Given the description of an element on the screen output the (x, y) to click on. 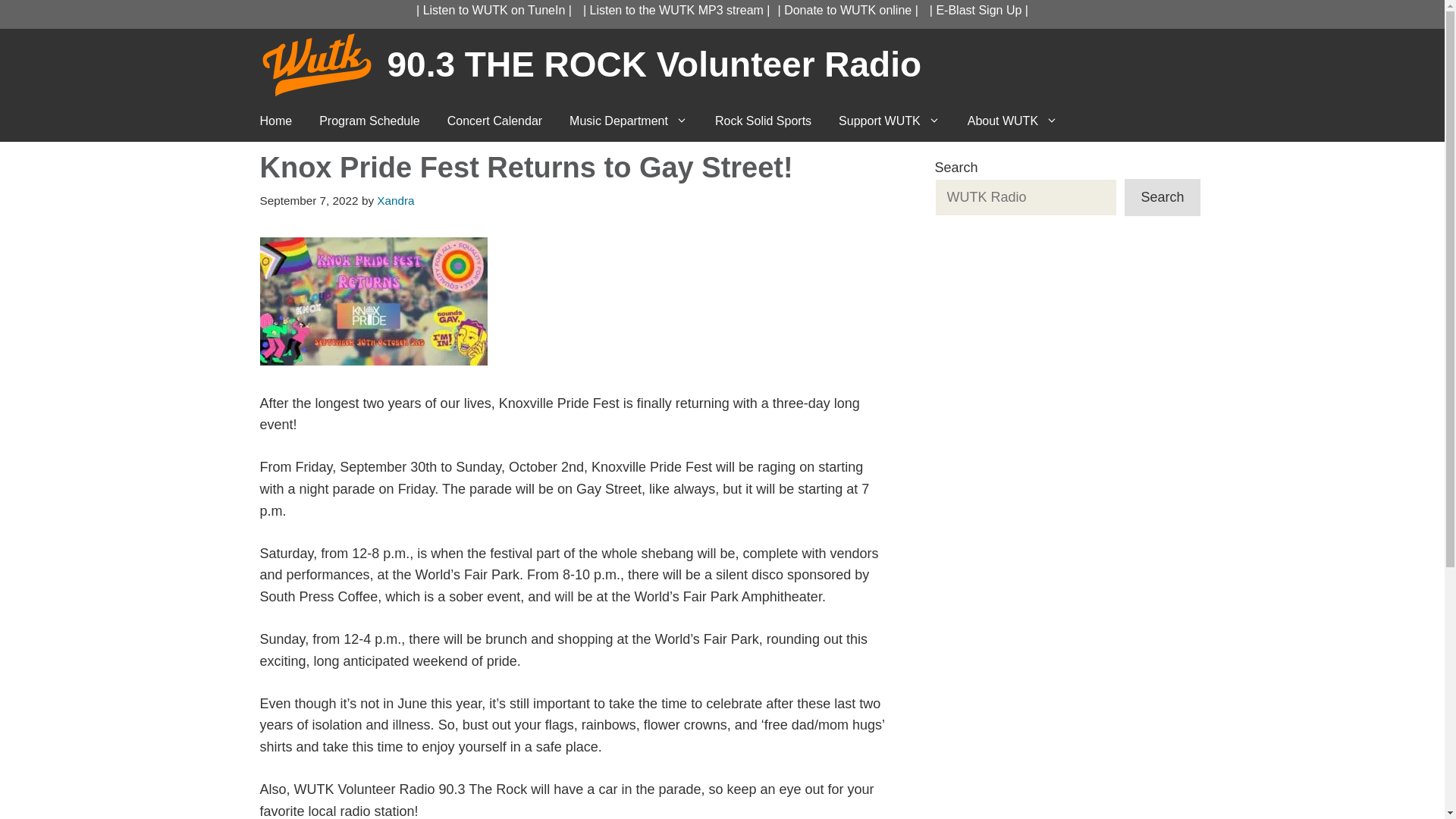
About WUTK (1012, 120)
Listen to the WUTK MP3 stream (675, 10)
Program Schedule (369, 120)
Music Department (628, 120)
Donate to WUTK online (847, 10)
Concert Calendar (494, 120)
View all posts by Xandra (395, 200)
Rock Solid Sports (763, 120)
Home (275, 120)
Support WUTK (889, 120)
Listen to WUTK on TuneIn (494, 10)
90.3 THE ROCK Volunteer Radio (654, 64)
E-Blast Sign Up (979, 10)
